Given the description of an element on the screen output the (x, y) to click on. 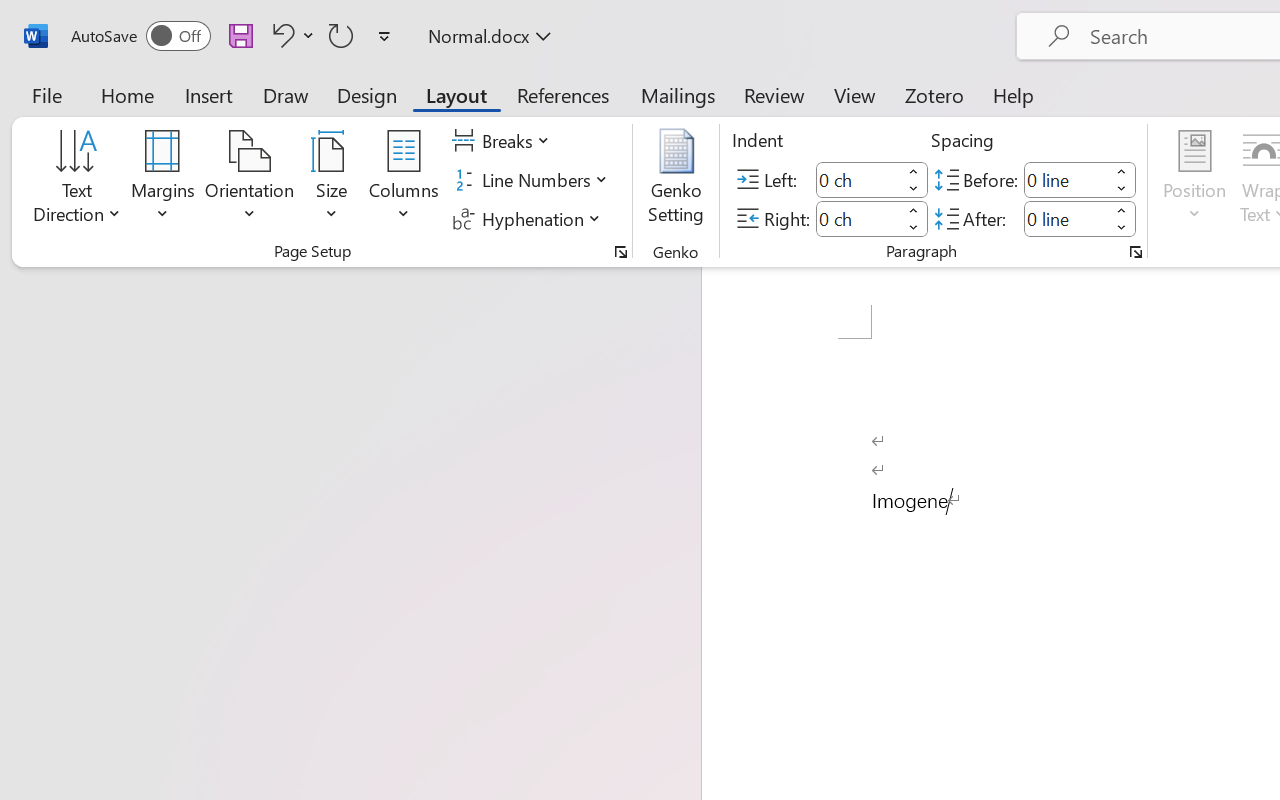
Help (1013, 94)
Spacing After (1066, 218)
Size (331, 179)
Indent Right (858, 218)
Line Numbers (532, 179)
